Given the description of an element on the screen output the (x, y) to click on. 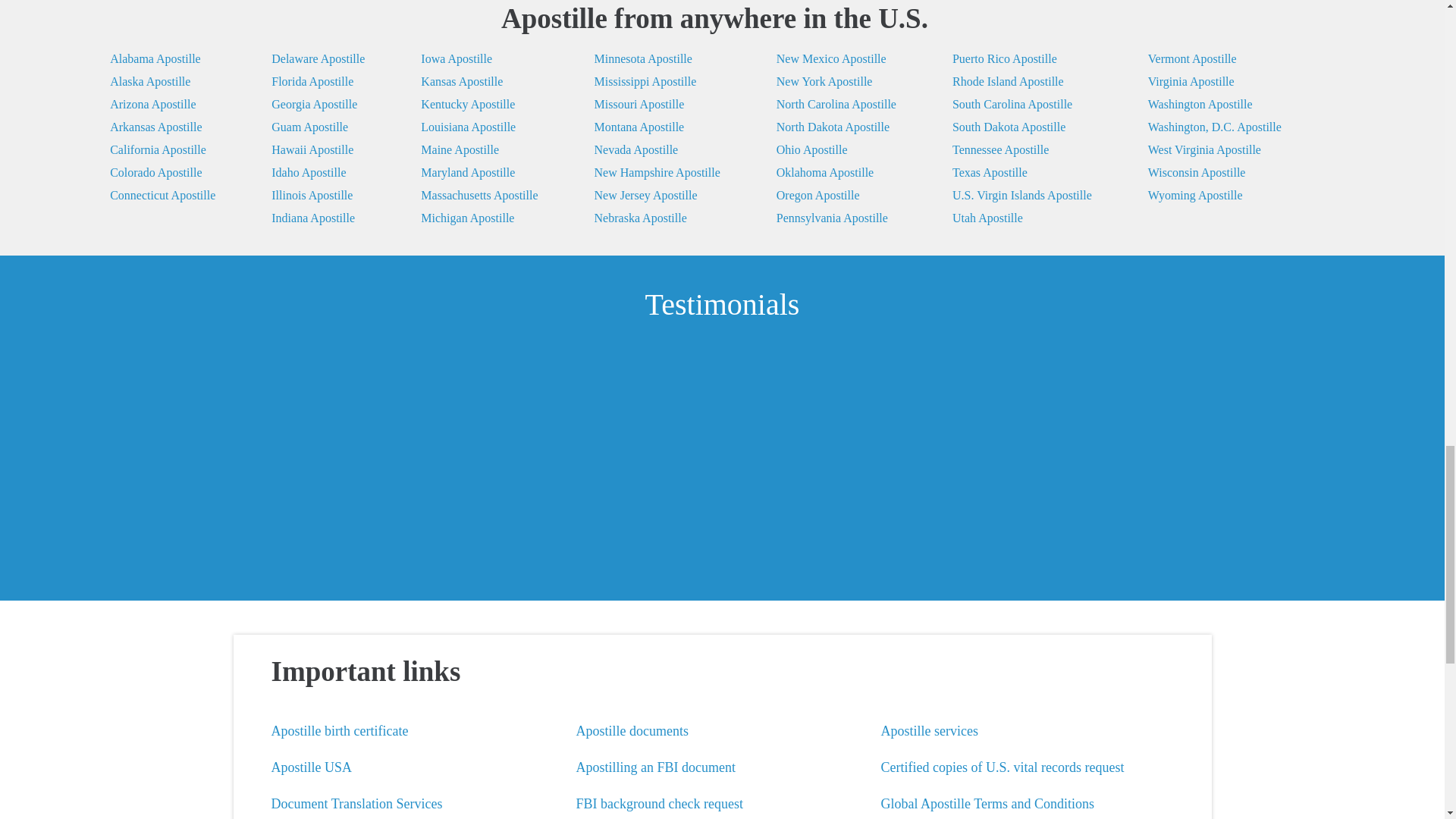
Colorado Apostille (162, 172)
Alaska Apostille (162, 81)
Connecticut Apostille (162, 195)
Arizona Apostille (162, 104)
Delaware Apostille (317, 58)
California Apostille (162, 149)
Arkansas Apostille (162, 127)
Alabama Apostille (162, 58)
Idaho Apostille (317, 172)
Georgia Apostille (317, 104)
